Given the description of an element on the screen output the (x, y) to click on. 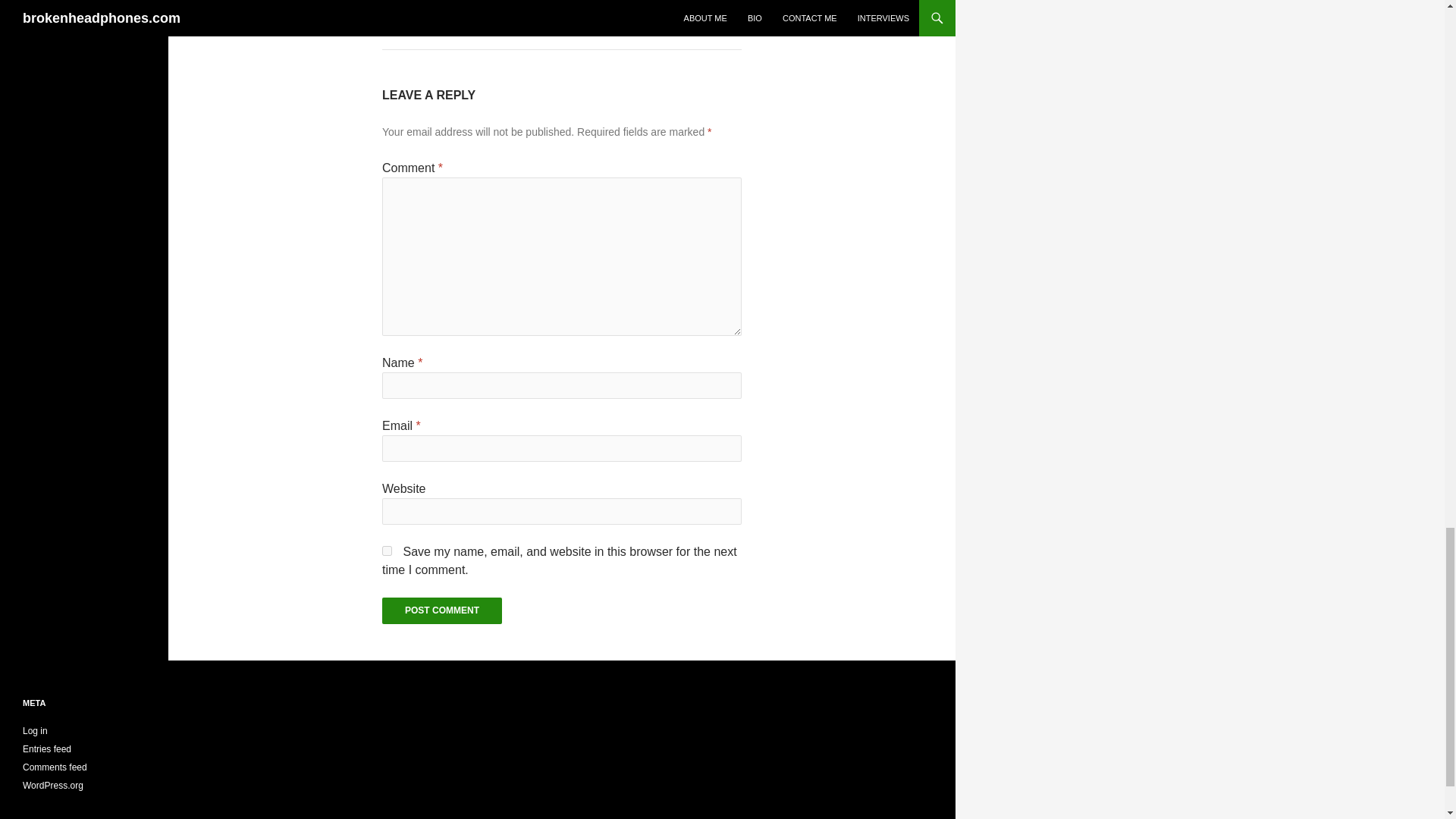
Post Comment (441, 610)
Entries feed (47, 748)
yes (386, 551)
Log in (35, 730)
Post Comment (441, 610)
